Given the description of an element on the screen output the (x, y) to click on. 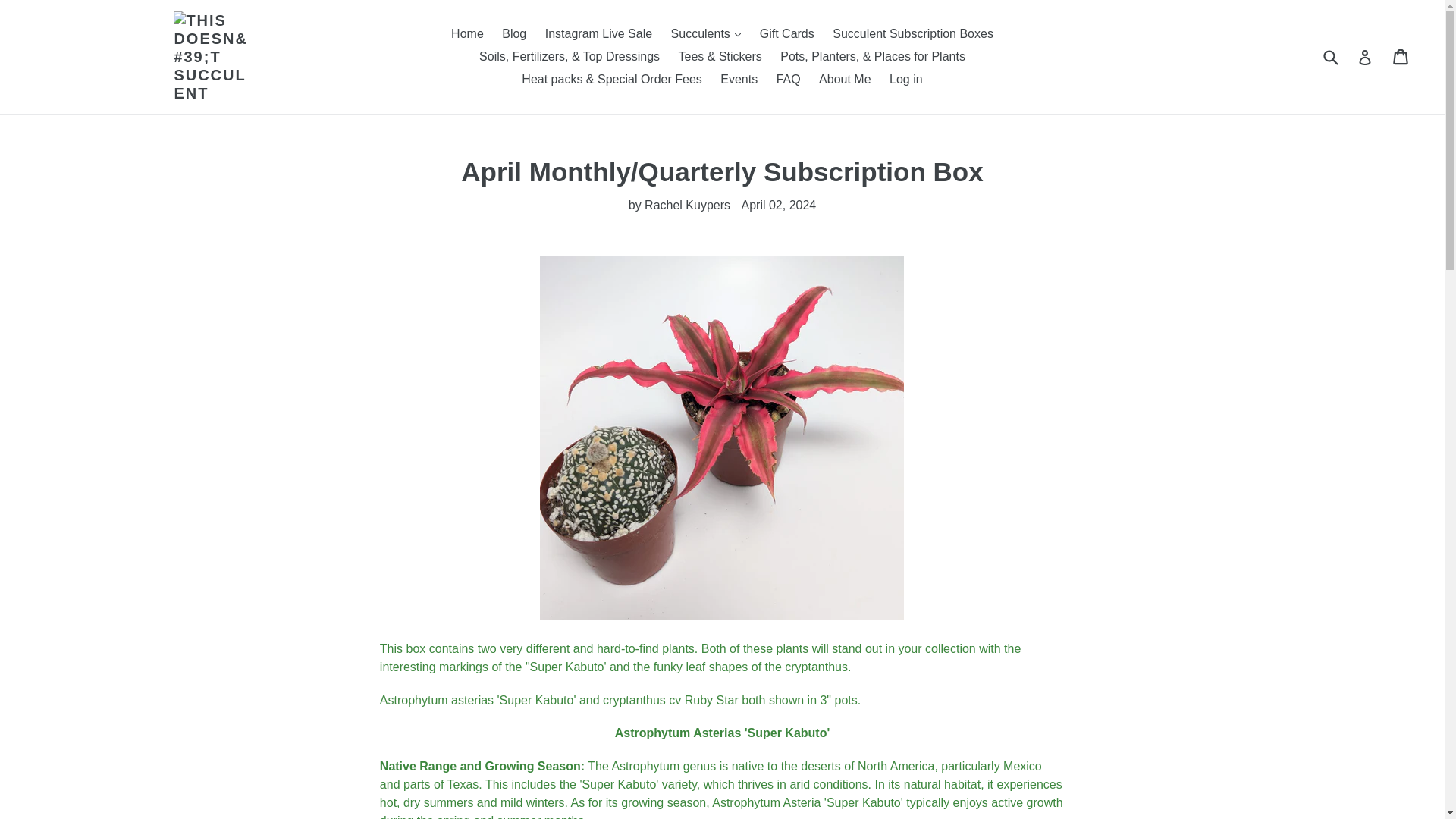
Instagram Live Sale (598, 33)
Blog (514, 33)
Home (468, 33)
